Given the description of an element on the screen output the (x, y) to click on. 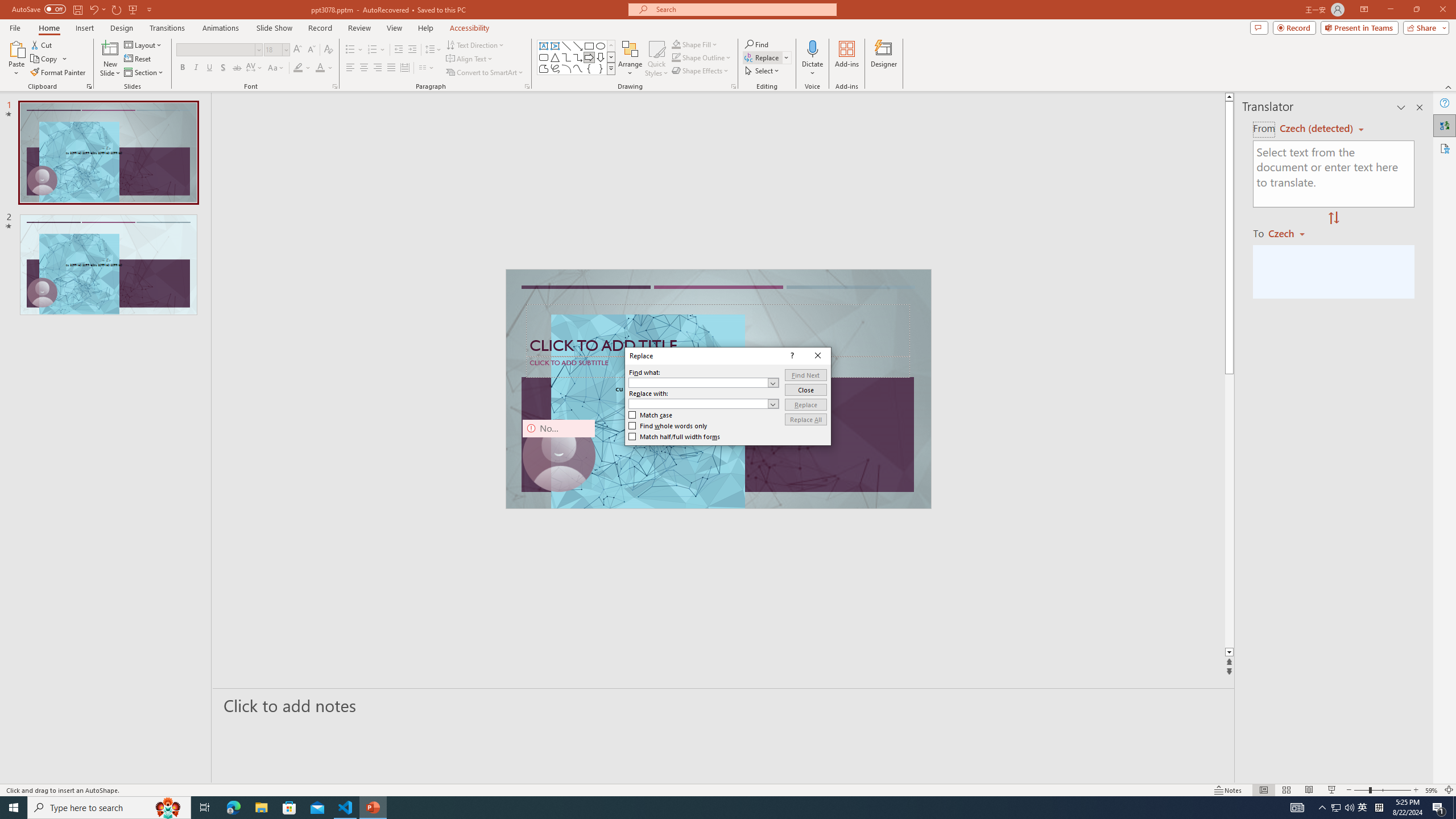
Context help (791, 355)
Find whole words only (667, 425)
Find what (697, 382)
